Given the description of an element on the screen output the (x, y) to click on. 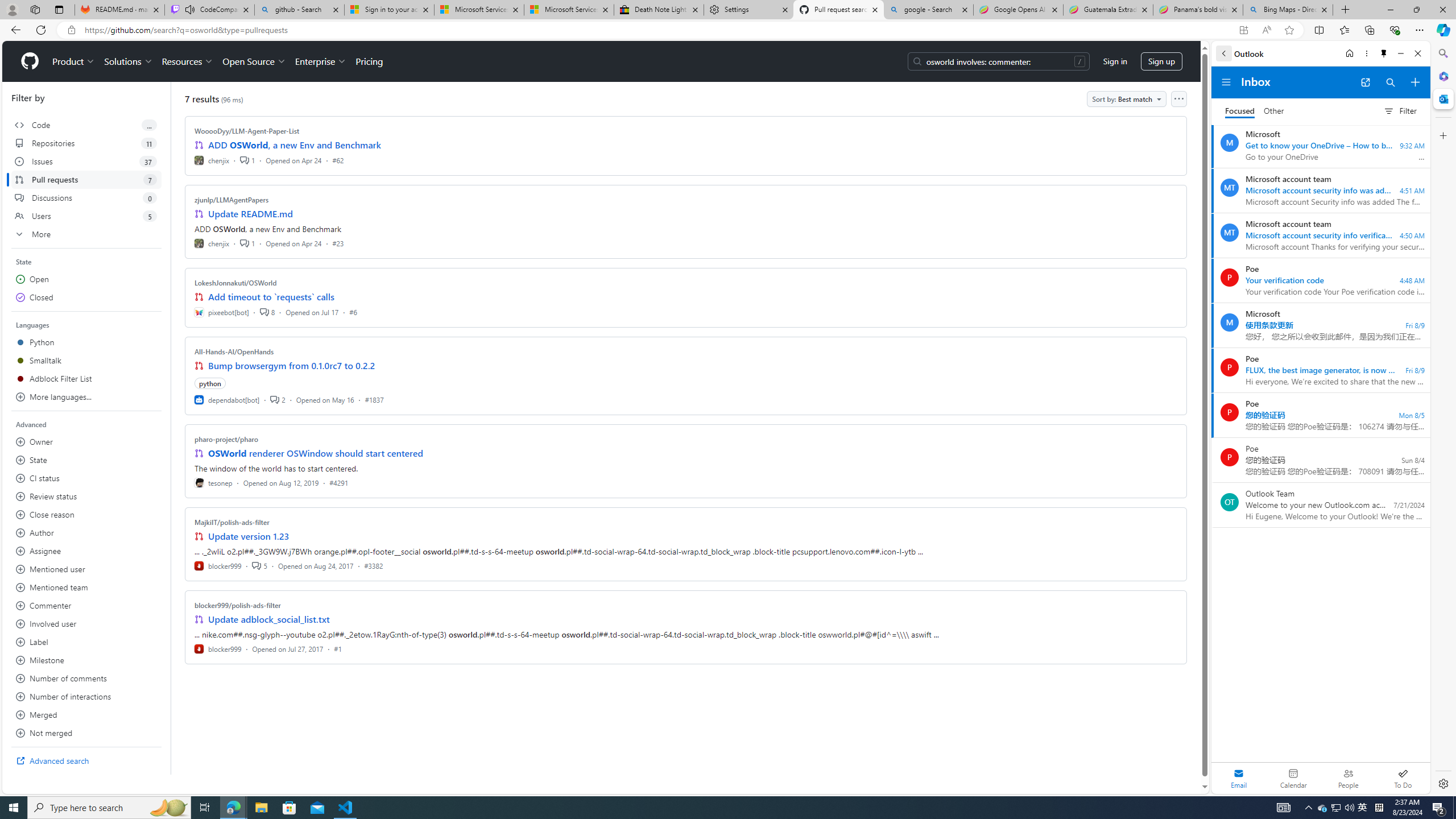
Unpin side pane (1383, 53)
#62 (337, 159)
Open Source (254, 60)
blocker999/polish-ads-filter (238, 605)
Sign in (1115, 61)
pharo-project/pharo (226, 438)
